Given the description of an element on the screen output the (x, y) to click on. 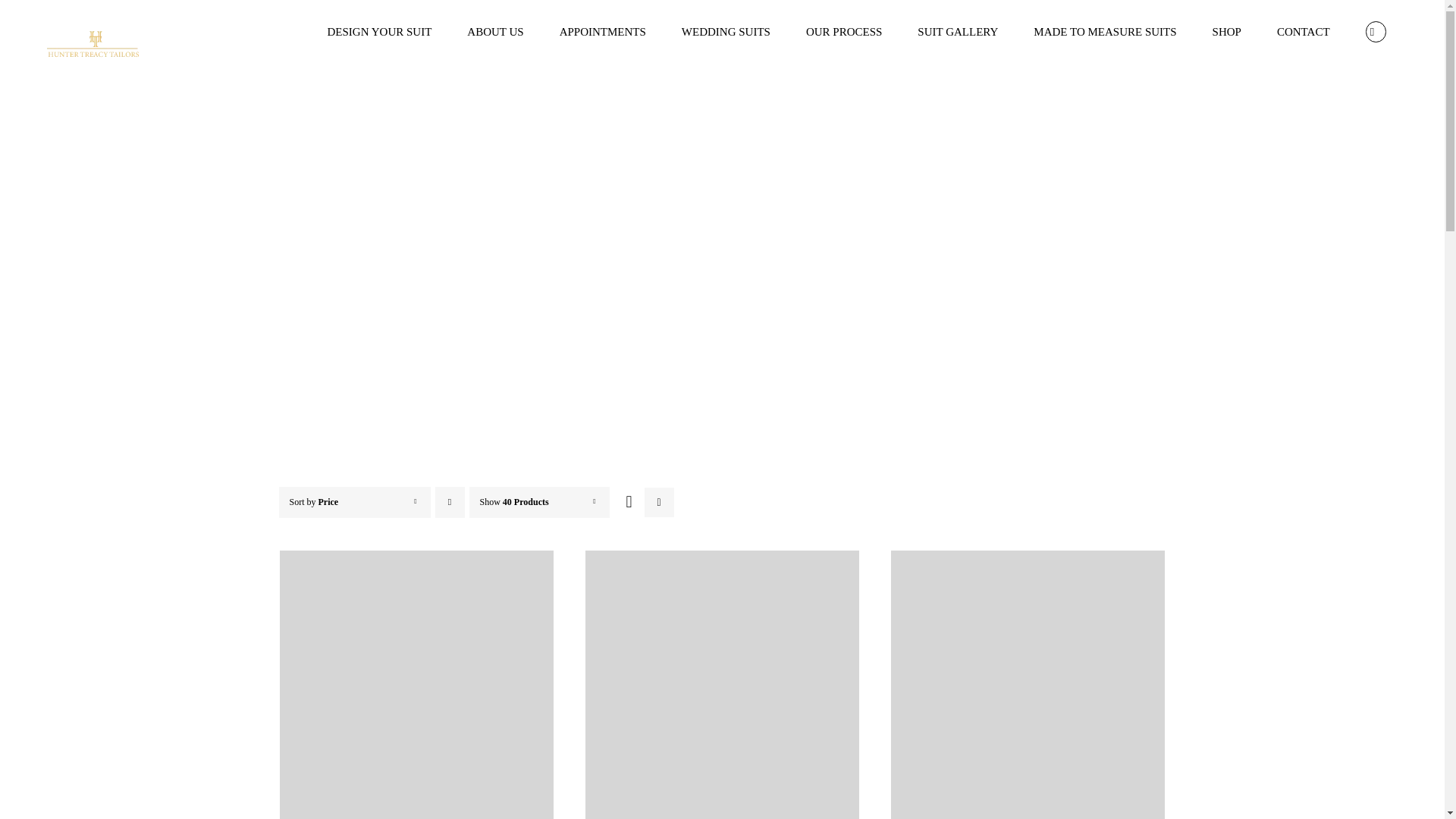
SHOP (1226, 31)
DESIGN YOUR SUIT (378, 31)
WEDDING SUITS (725, 31)
SUIT GALLERY (957, 31)
MADE TO MEASURE SUITS (1104, 31)
ABOUT US (495, 31)
OUR PROCESS (843, 31)
CONTACT (1303, 31)
APPOINTMENTS (602, 31)
